Given the description of an element on the screen output the (x, y) to click on. 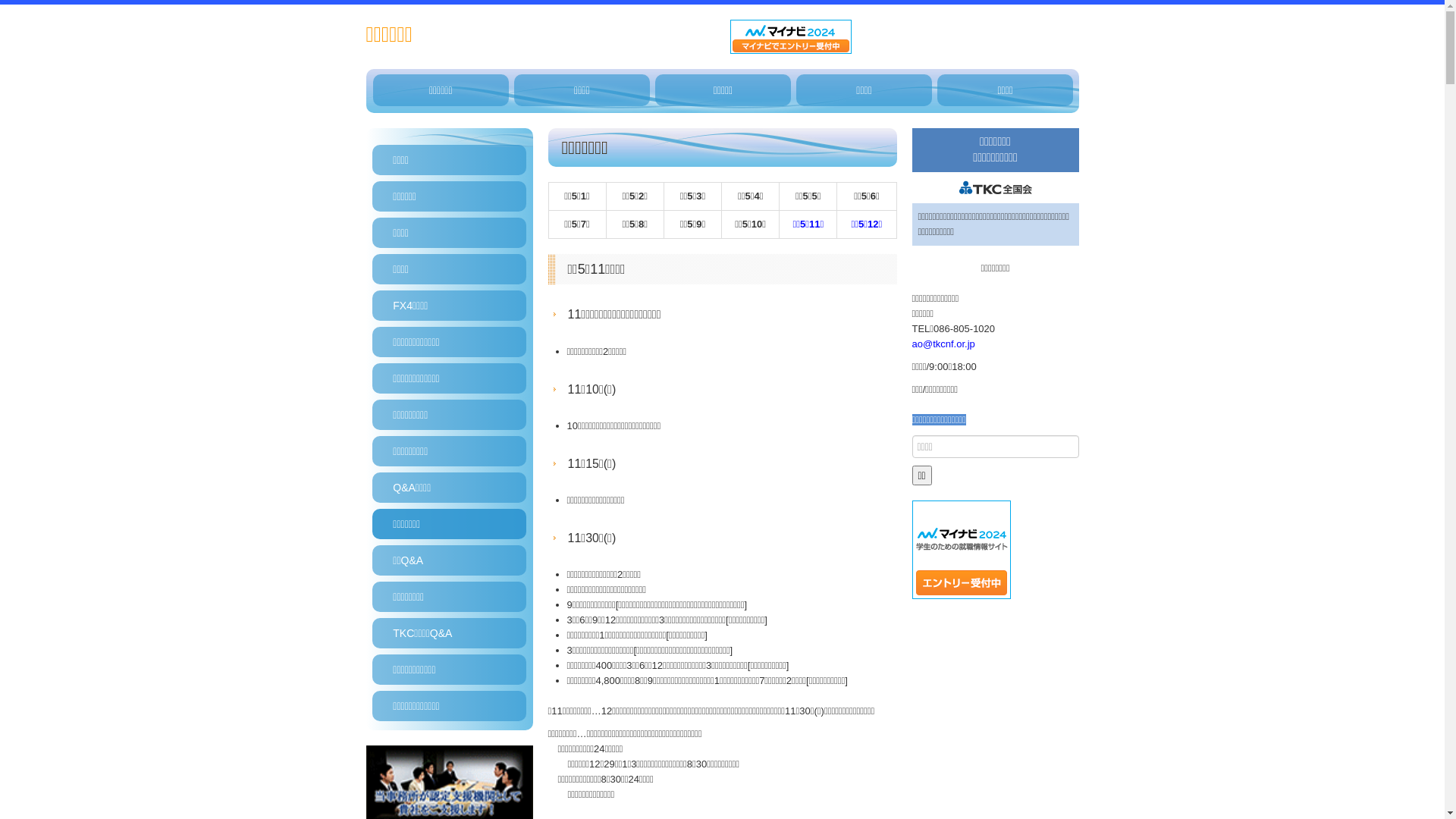
ao@tkcnf.or.jp Element type: text (942, 343)
